Given the description of an element on the screen output the (x, y) to click on. 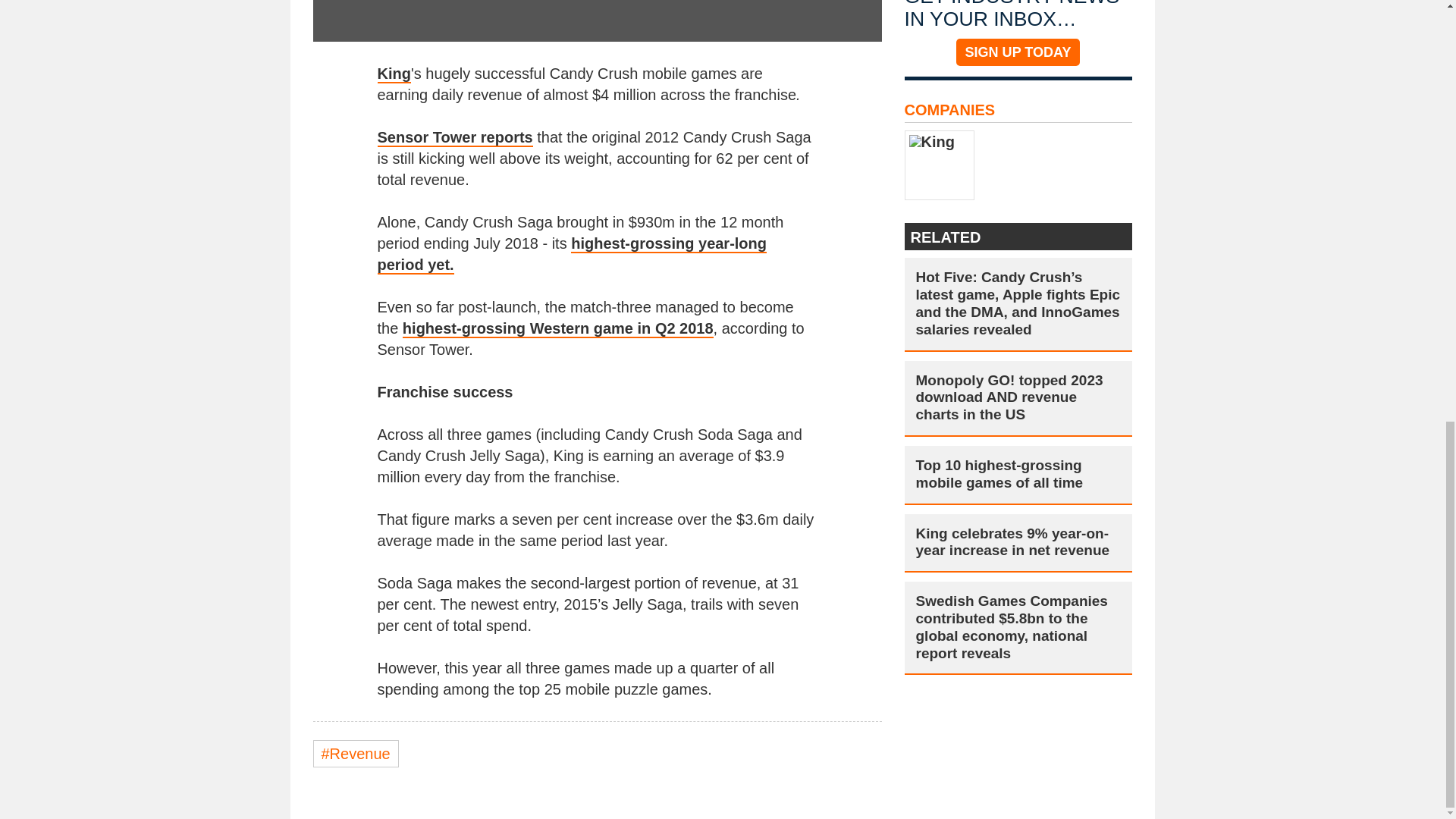
highest-grossing Western game in Q2 2018 (558, 329)
Sensor Tower reports (454, 137)
Top 10 highest-grossing mobile games of all time (1017, 474)
King (393, 74)
highest-grossing year-long period yet. (572, 254)
